Given the description of an element on the screen output the (x, y) to click on. 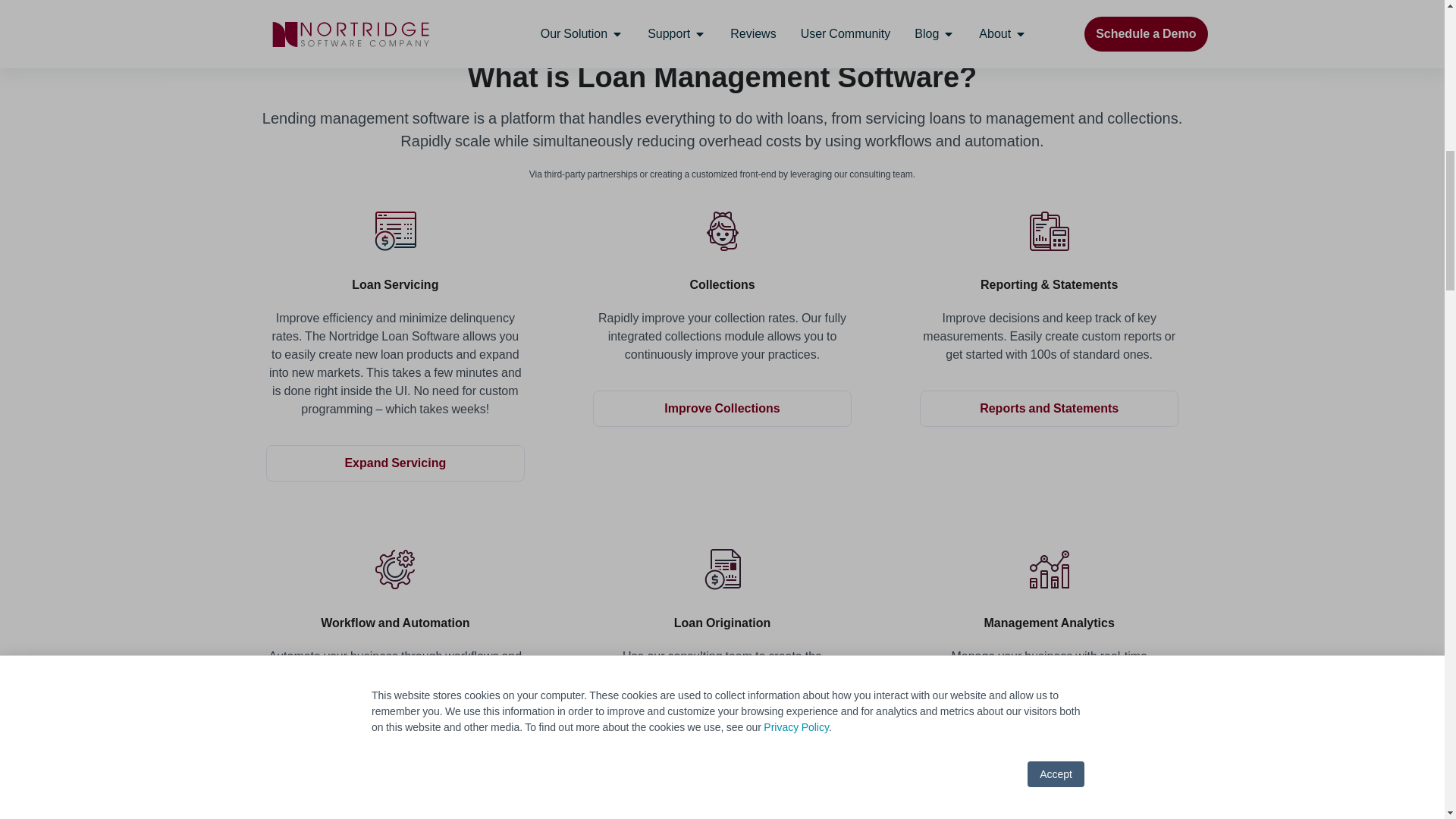
loan-servicing Created with Sketch. (395, 231)
loan-origination Created with Sketch. (721, 569)
reporting-and-statements Created with Sketch. (1049, 231)
management-analytics Created with Sketch. (1049, 569)
collections-1x Created with Sketch. (721, 231)
workflows-and-automation Created with Sketch. (395, 569)
